Given the description of an element on the screen output the (x, y) to click on. 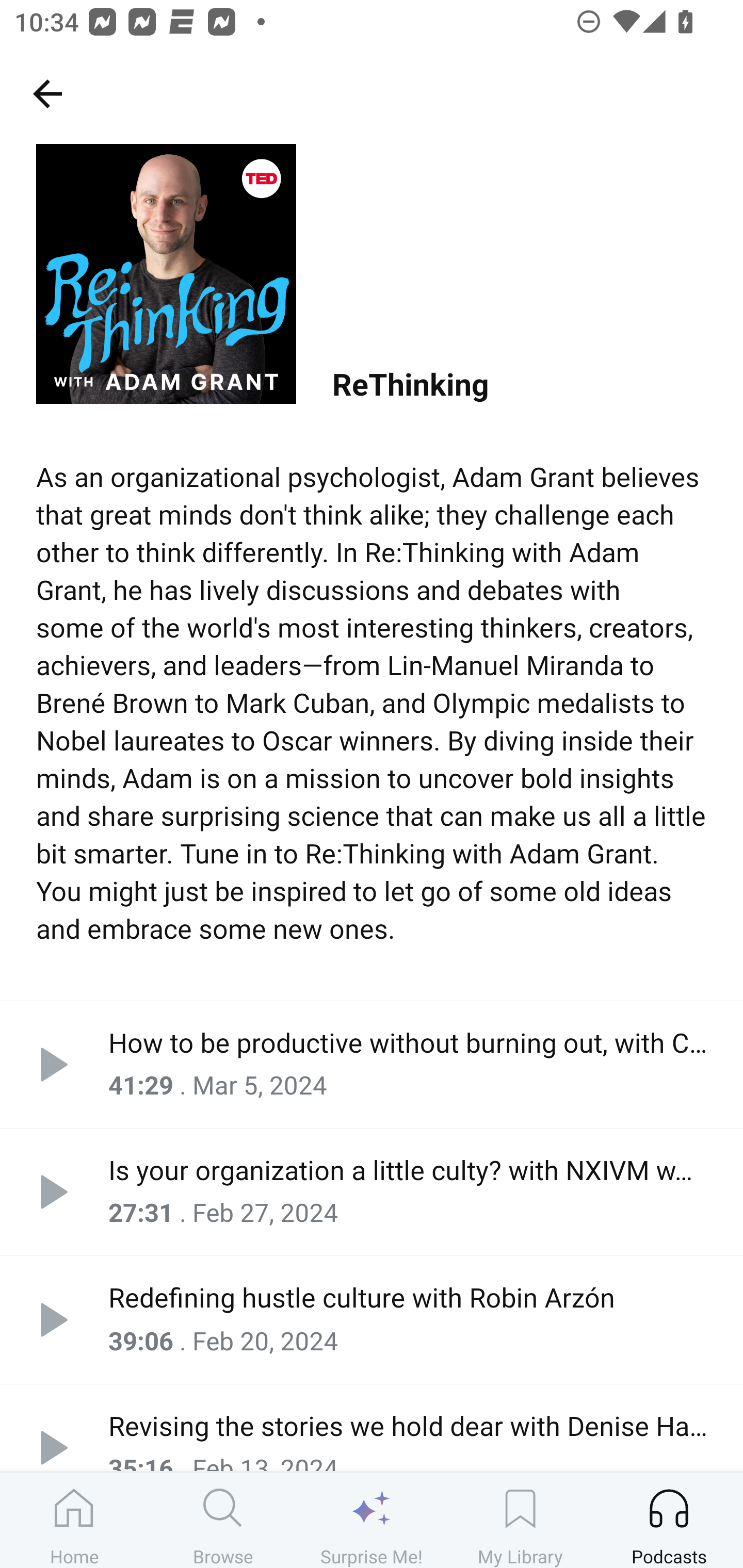
TED Podcasts, back (47, 92)
Home (74, 1520)
Browse (222, 1520)
Surprise Me! (371, 1520)
My Library (519, 1520)
Podcasts (668, 1520)
